Given the description of an element on the screen output the (x, y) to click on. 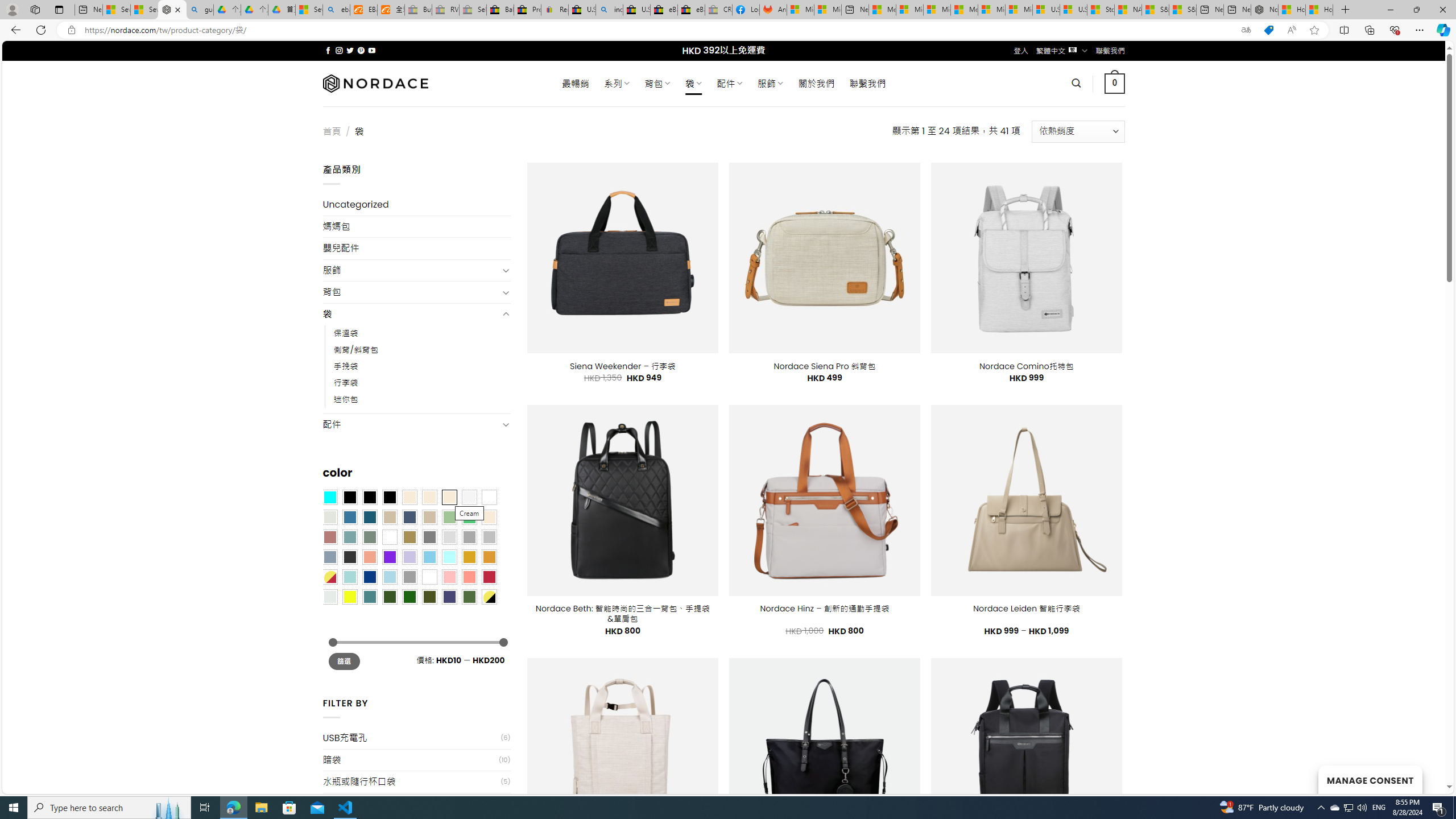
Baby Keepsakes & Announcements for sale | eBay (499, 9)
Dull Nickle (329, 596)
Follow on Facebook (327, 50)
